Given the description of an element on the screen output the (x, y) to click on. 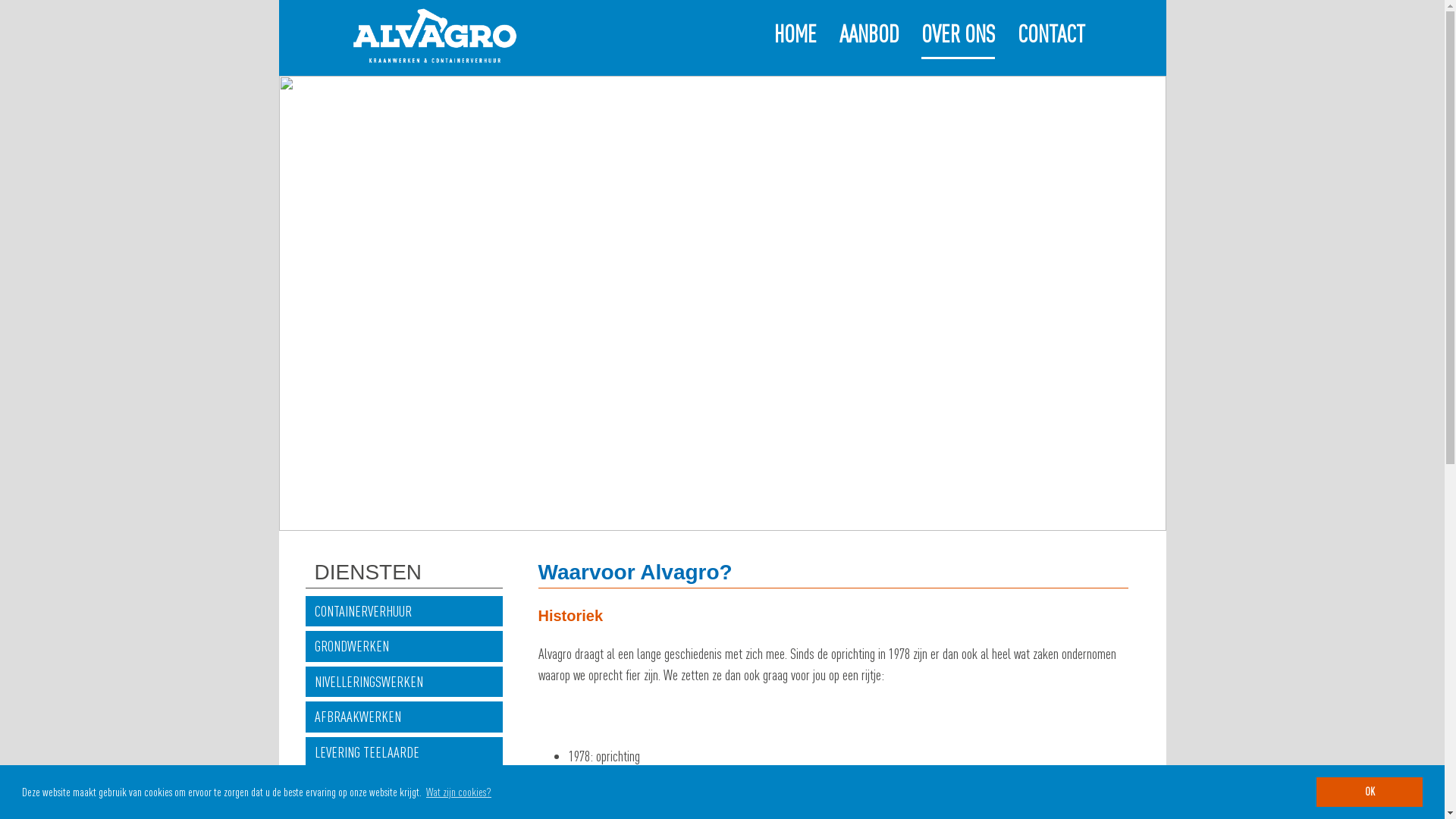
OVER ONS Element type: text (958, 42)
AFBRAAKWERKEN Element type: text (403, 716)
LEVERING TEELAARDE Element type: text (403, 752)
HOME Element type: text (795, 41)
OK Element type: text (1369, 791)
CONTACT Element type: text (1051, 41)
GRONDWERKEN Element type: text (403, 646)
CONTAINERVERHUUR Element type: text (403, 611)
Alvagro Element type: hover (405, 18)
Wat zijn cookies? Element type: text (458, 791)
NIVELLERINGSWERKEN Element type: text (403, 681)
AANBOD Element type: text (869, 41)
